Given the description of an element on the screen output the (x, y) to click on. 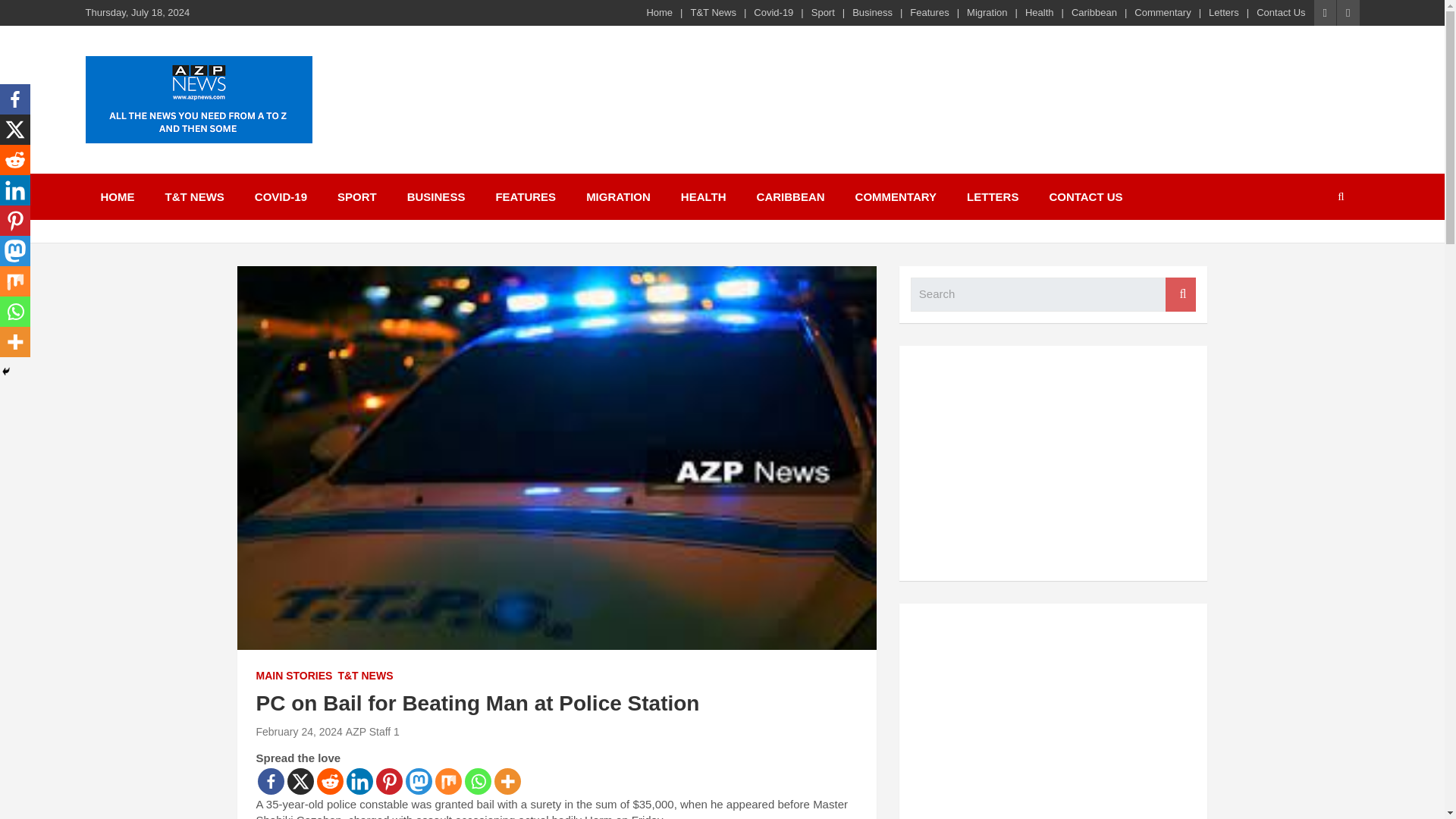
Sport (822, 12)
AZP Staff 1 (372, 731)
Features (929, 12)
February 24, 2024 (299, 731)
Reddit (330, 781)
Caribbean (1093, 12)
HEALTH (703, 196)
Mix (448, 781)
MAIN STORIES (294, 676)
CONTACT US (1085, 196)
SPORT (356, 196)
Facebook (270, 781)
Whatsapp (477, 781)
BUSINESS (435, 196)
Covid-19 (773, 12)
